Given the description of an element on the screen output the (x, y) to click on. 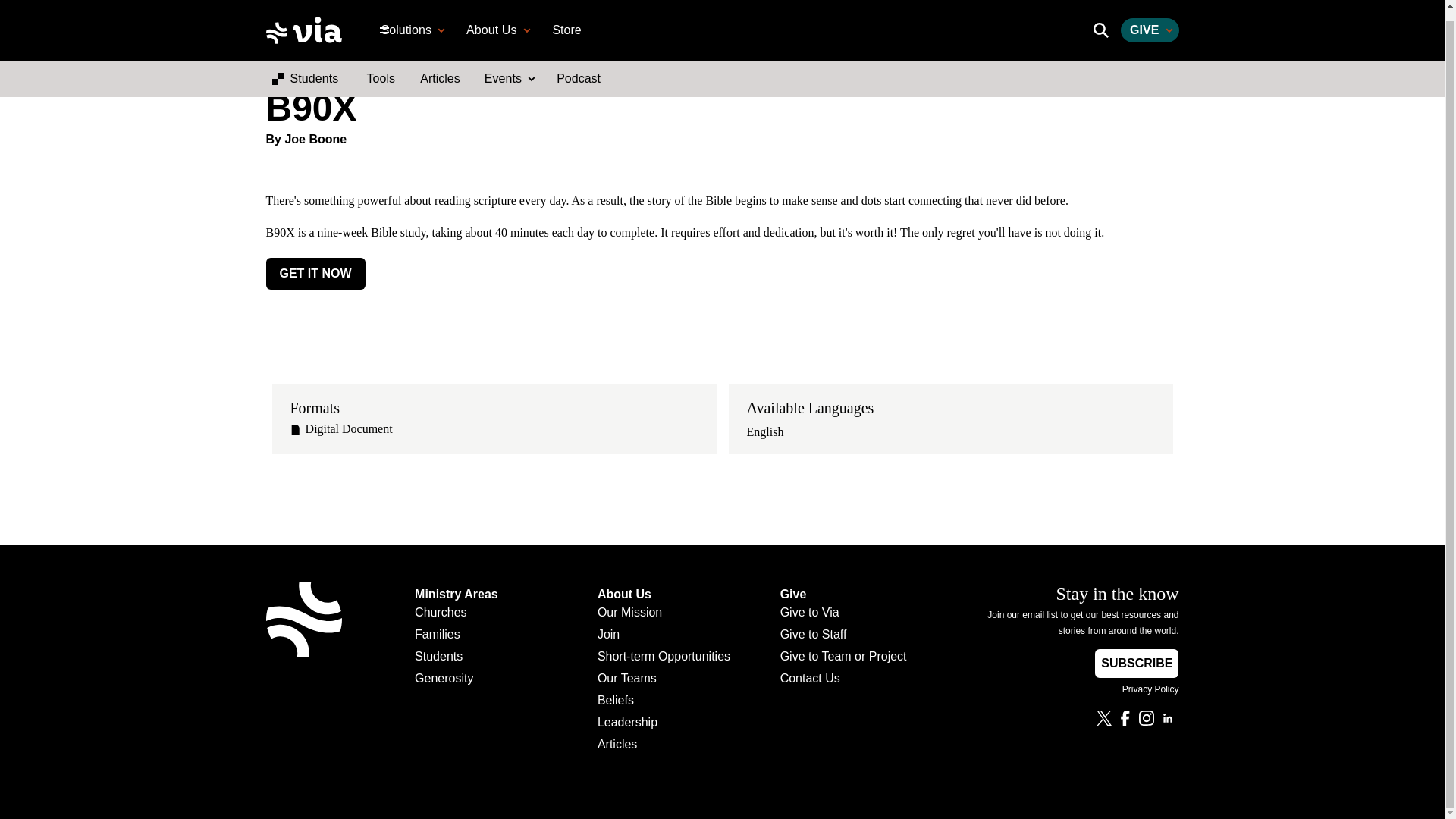
Beliefs (663, 703)
Give to Team or Project (843, 659)
Articles (439, 68)
Contact Us (843, 681)
Solutions (411, 19)
GET IT NOW (314, 273)
Articles (663, 747)
About Us (496, 19)
Students (455, 659)
SUBSCRIBE (1135, 663)
Give to Via (843, 615)
Our Mission (663, 615)
GIVE (1150, 19)
Leadership (663, 725)
Store (567, 19)
